Given the description of an element on the screen output the (x, y) to click on. 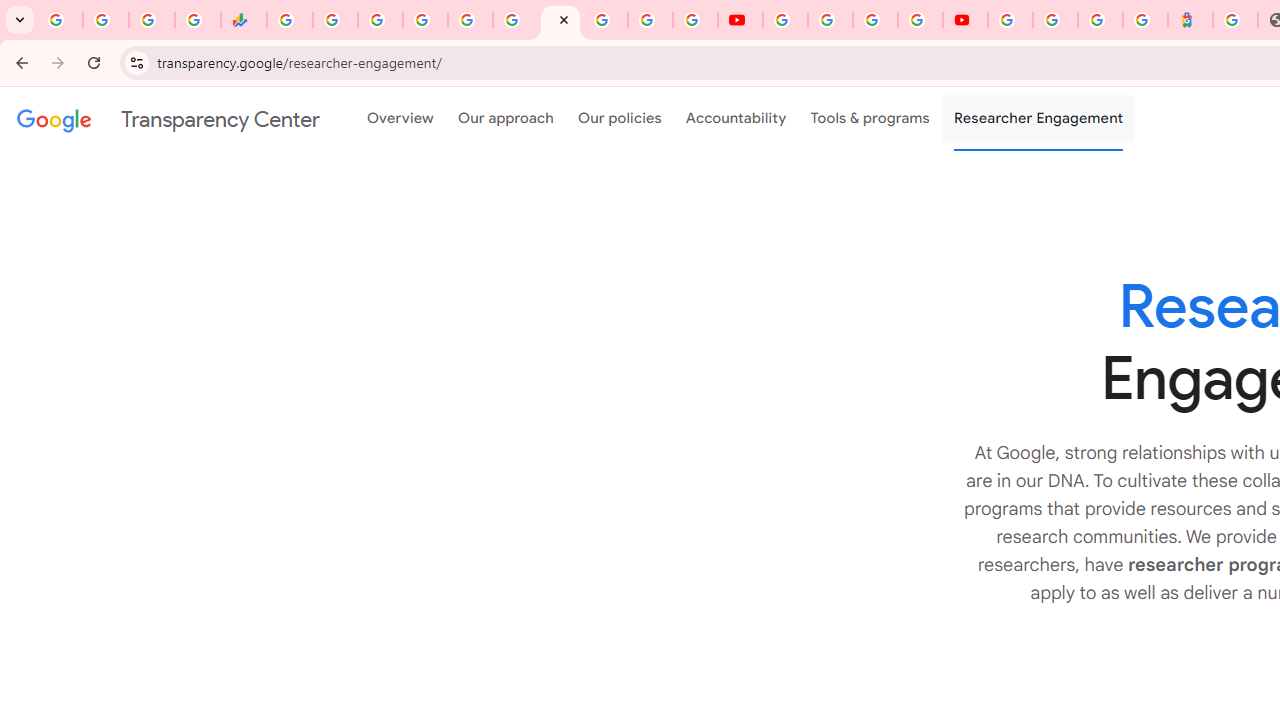
Tools & programs (869, 119)
Sign in - Google Accounts (425, 20)
Google Researcher Engagement - Transparency Center (559, 20)
Atour Hotel - Google hotels (1190, 20)
